Given the description of an element on the screen output the (x, y) to click on. 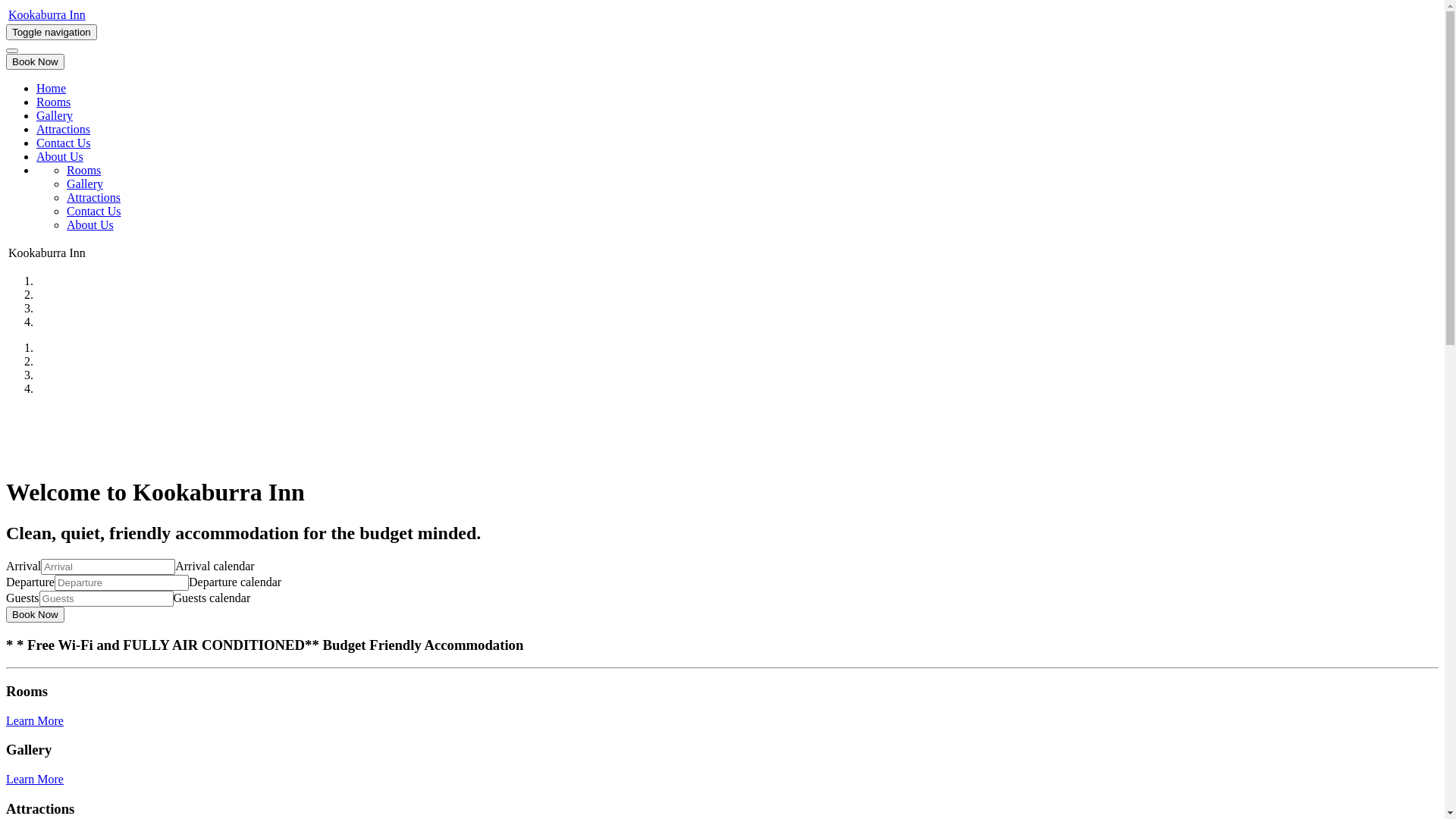
About Us Element type: text (59, 156)
Toggle navigation Element type: text (51, 32)
Kookaburra Inn Element type: text (46, 14)
Contact Us Element type: text (93, 210)
Home Element type: text (50, 87)
Attractions Element type: text (63, 128)
Gallery Element type: text (54, 115)
Book Now Element type: text (35, 614)
Rooms Element type: text (83, 169)
Book Now Element type: text (35, 61)
Gallery Element type: text (84, 183)
About Us Element type: text (89, 224)
Learn More Element type: text (34, 720)
Attractions Element type: text (93, 197)
Rooms Element type: text (53, 101)
Contact Us Element type: text (63, 142)
Learn More Element type: text (34, 778)
